Given the description of an element on the screen output the (x, y) to click on. 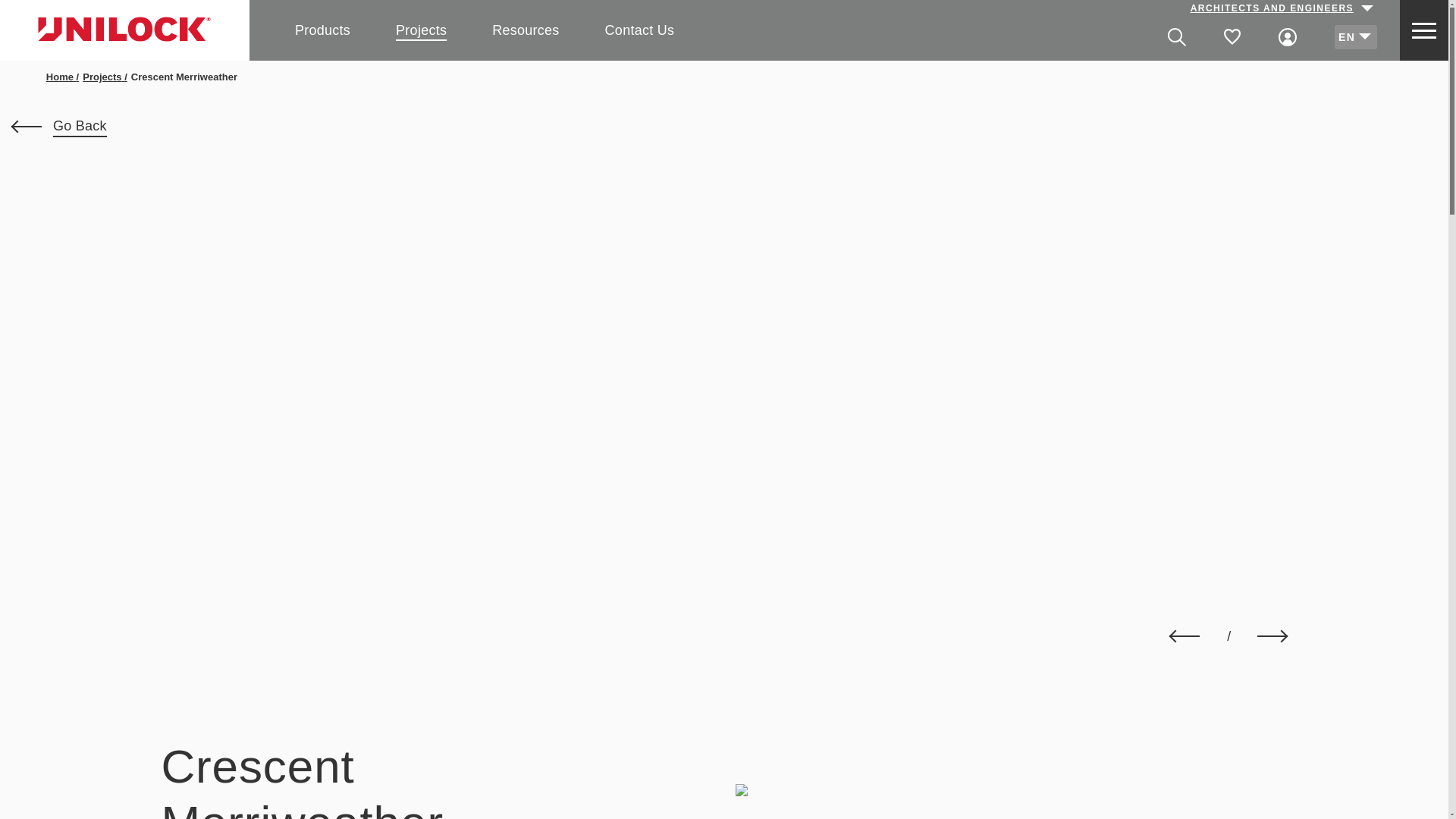
Resources (525, 29)
Products (322, 29)
Projects (421, 29)
